Given the description of an element on the screen output the (x, y) to click on. 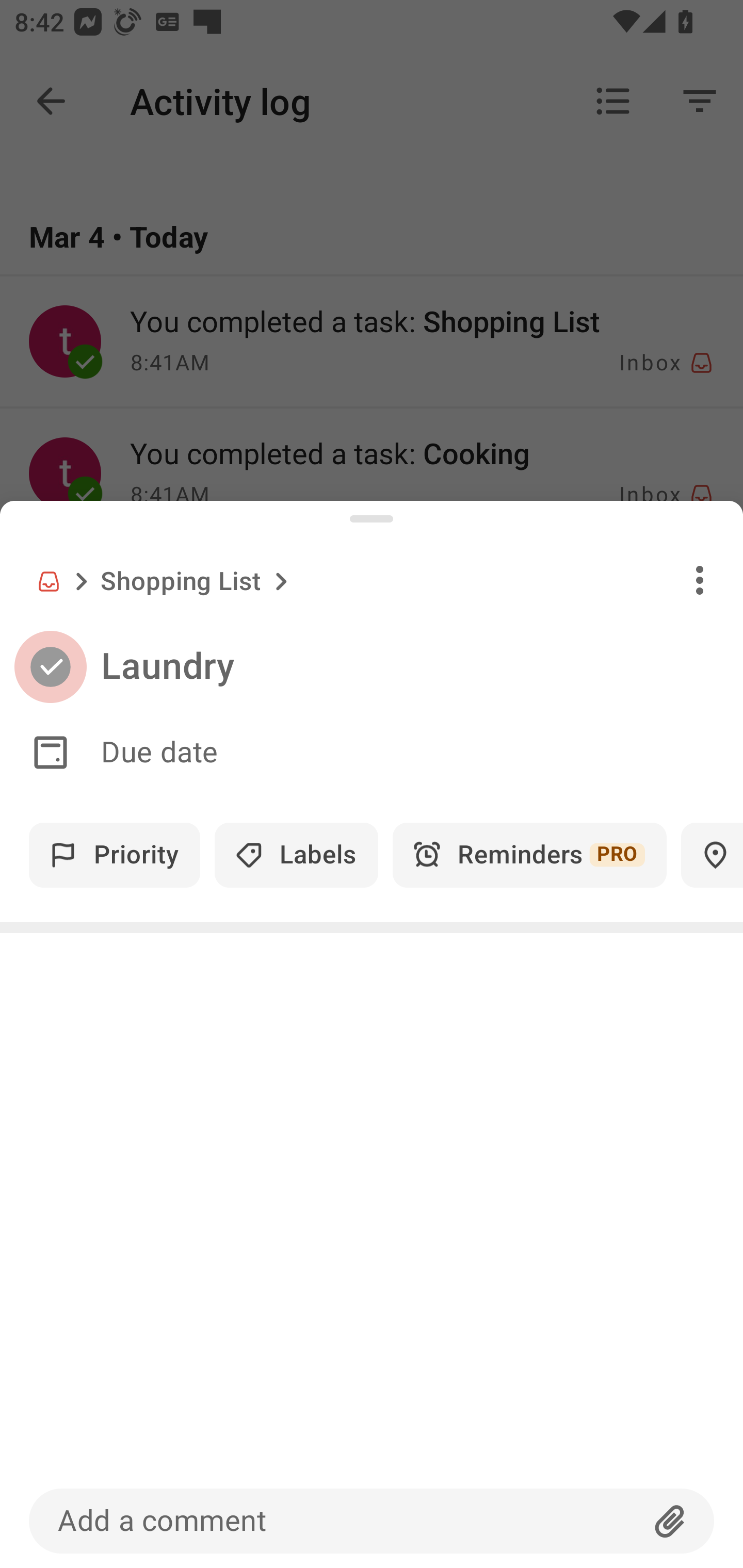
Overflow menu (699, 580)
Complete (50, 667)
Laundry (422, 666)
Date Due date (371, 752)
Priority (113, 855)
Labels (296, 855)
Reminders PRO (529, 855)
Locations PRO (712, 855)
Add a comment Attachment (371, 1520)
Attachment (670, 1520)
